Given the description of an element on the screen output the (x, y) to click on. 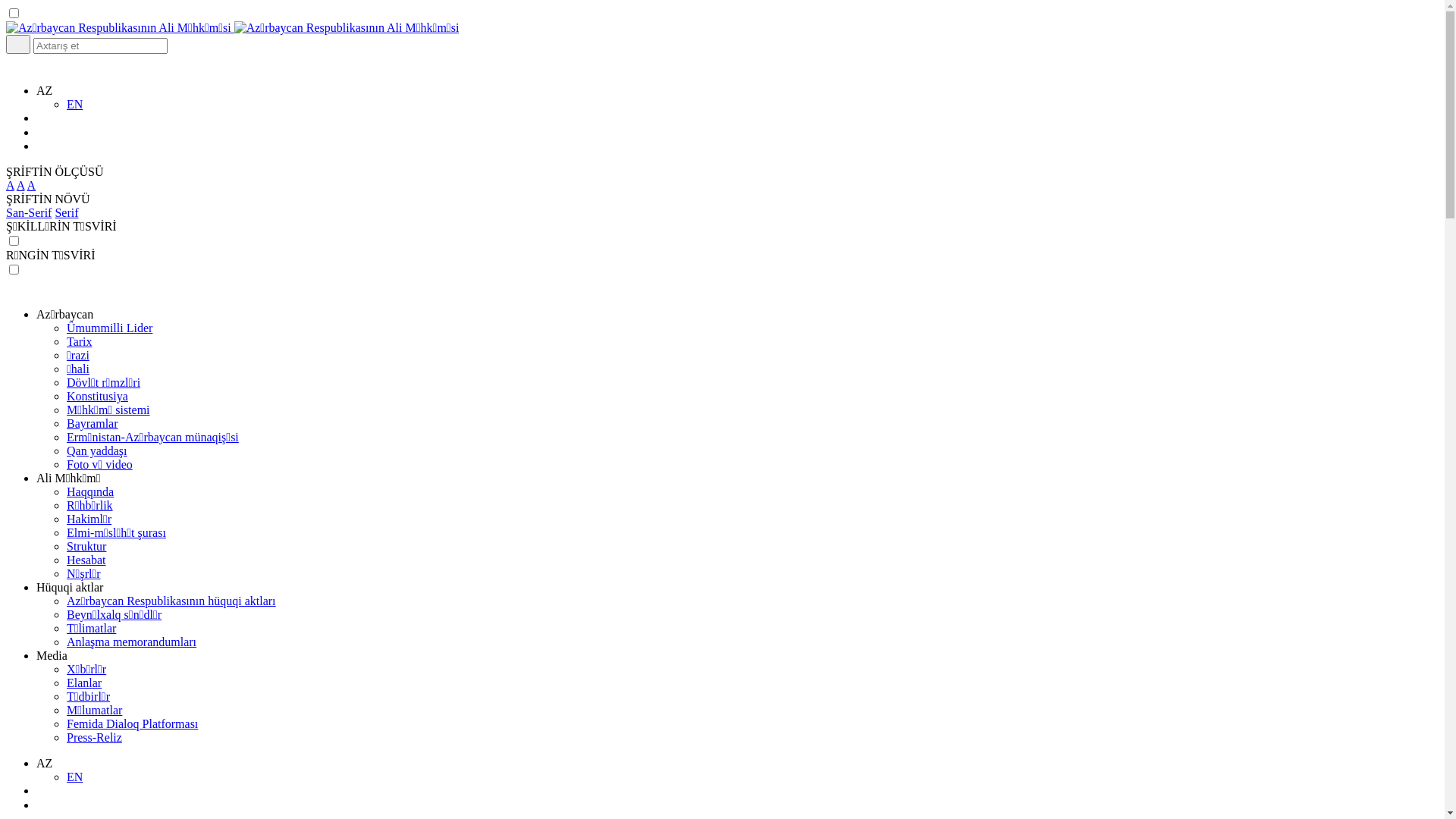
Press-Reliz Element type: text (94, 737)
A Element type: text (10, 184)
Hesabat Element type: text (86, 559)
A Element type: text (20, 184)
Struktur Element type: text (86, 545)
Elanlar Element type: text (83, 682)
San-Serif Element type: text (28, 212)
Serif Element type: text (66, 212)
EN Element type: text (74, 776)
Tarix Element type: text (79, 341)
EN Element type: text (74, 103)
Konstitusiya Element type: text (97, 395)
AZ Element type: text (44, 90)
AZ Element type: text (44, 762)
Bayramlar Element type: text (92, 423)
A Element type: text (31, 184)
